Given the description of an element on the screen output the (x, y) to click on. 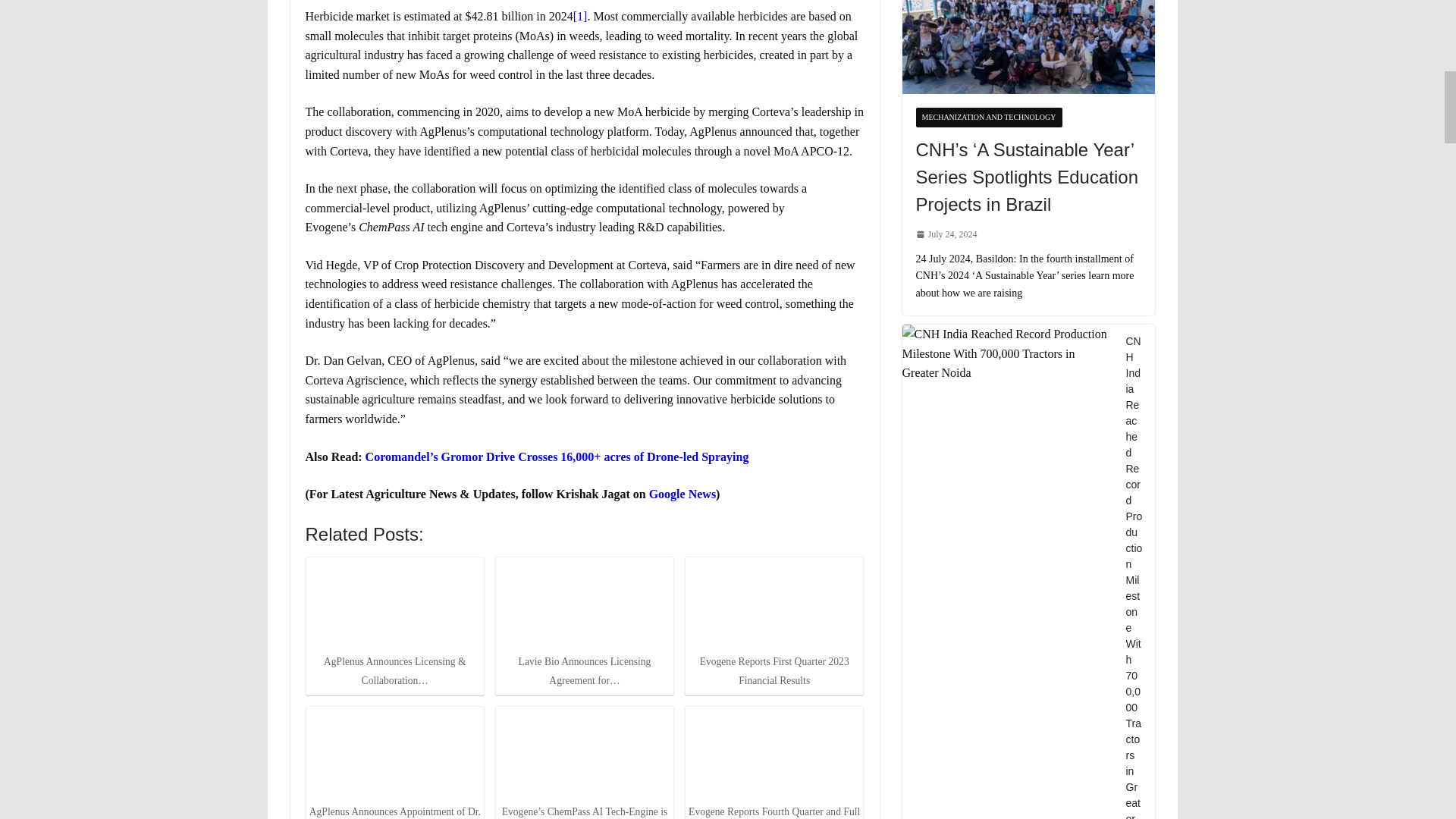
Evogene Reports First Quarter 2023 Financial Results (774, 604)
